Given the description of an element on the screen output the (x, y) to click on. 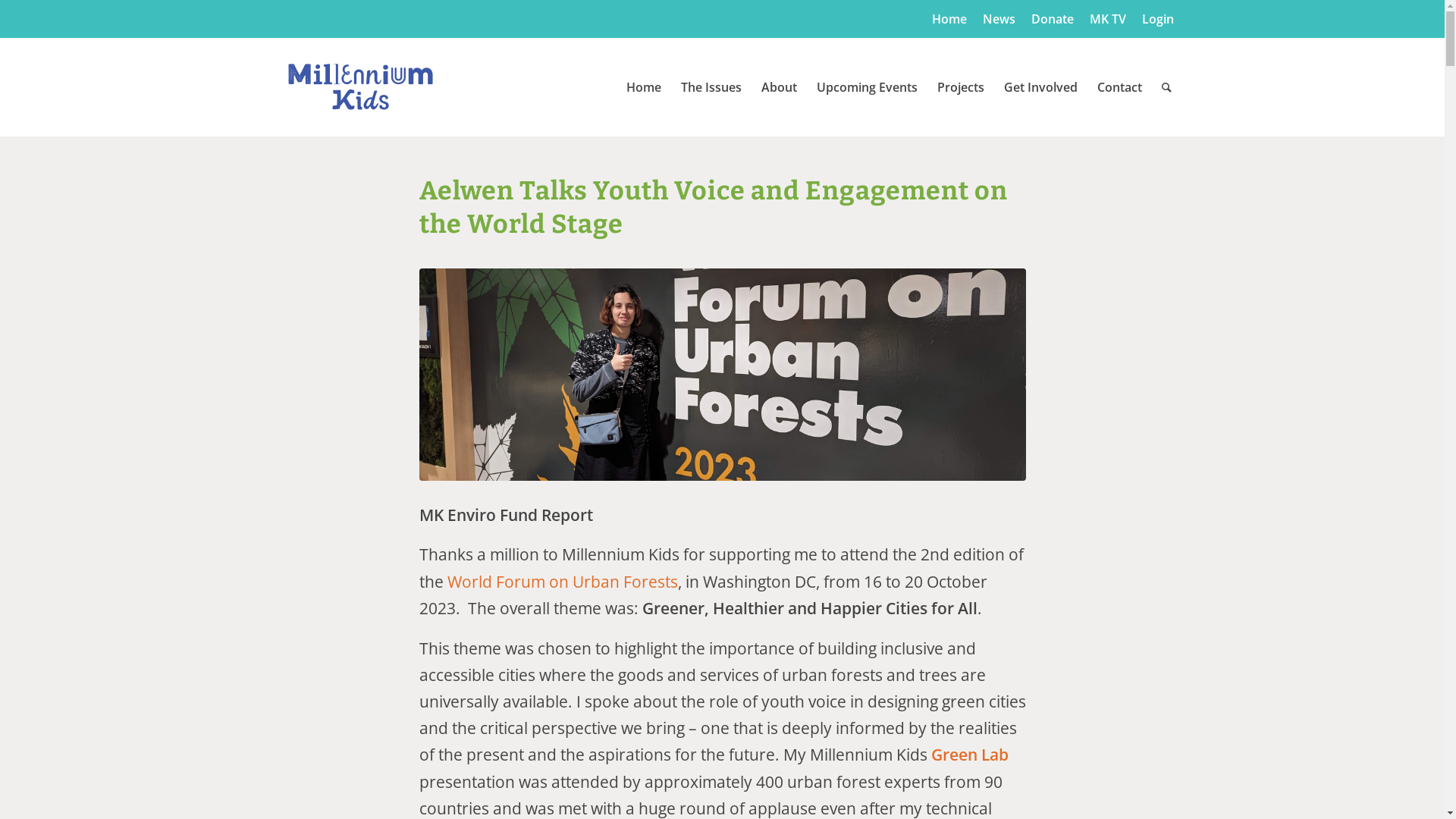
MK TV Element type: text (1106, 18)
The Issues Element type: text (710, 86)
Get Involved Element type: text (1039, 86)
Green Lab Element type: text (969, 754)
Donate Element type: text (1052, 18)
Home Element type: text (642, 86)
Contact Element type: text (1119, 86)
Login Element type: text (1157, 18)
News Element type: text (998, 18)
Home Element type: text (948, 18)
Aelwen Talks Youth Voice and Engagement on the World Stage Element type: hover (721, 374)
World Forum on Urban Forests Element type: text (562, 581)
Projects Element type: text (959, 86)
About Element type: text (778, 86)
Upcoming Events Element type: text (866, 86)
Aelwen Talks Youth Voice and Engagement on the World Stage Element type: text (712, 207)
